Given the description of an element on the screen output the (x, y) to click on. 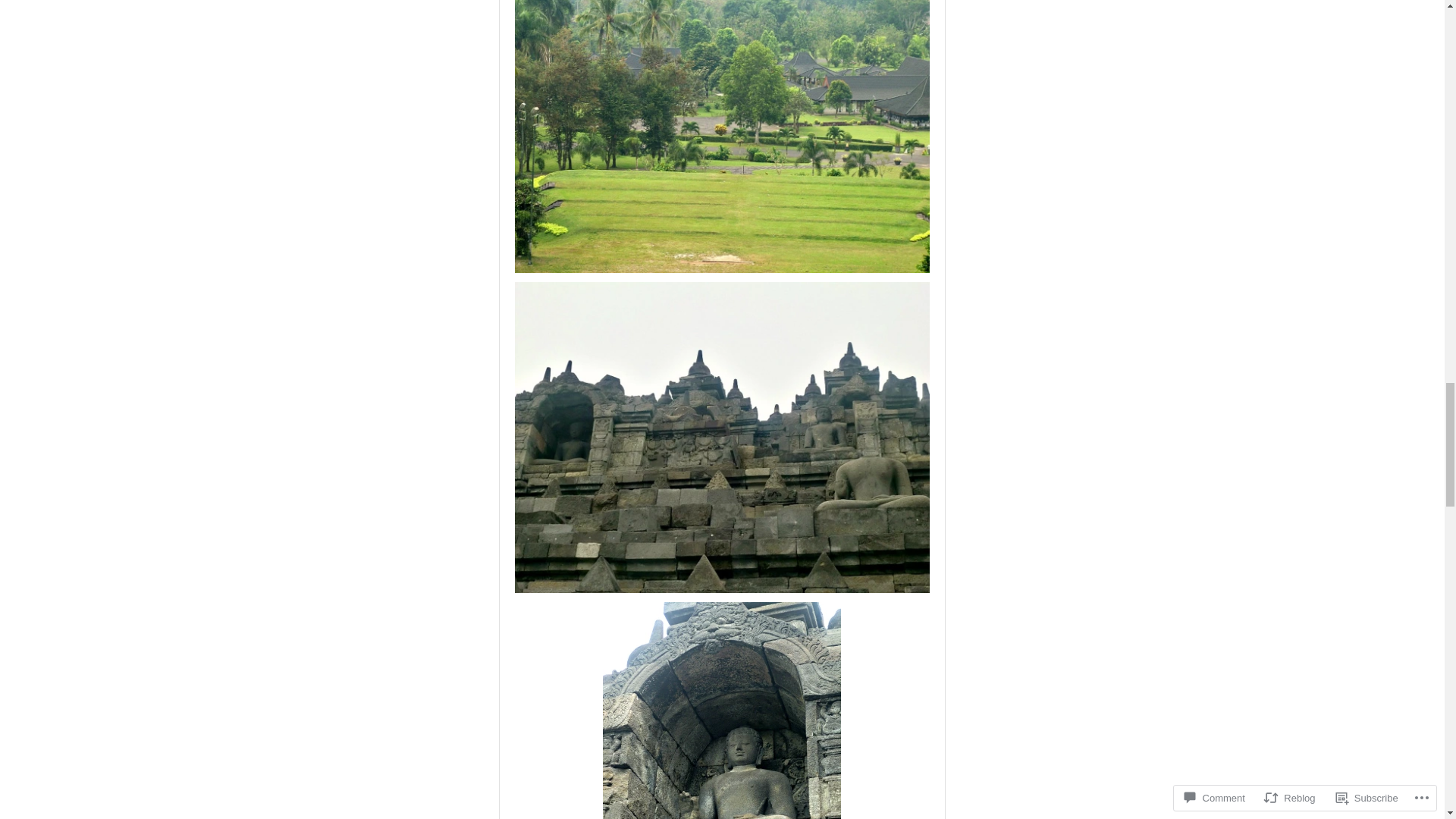
buddha (721, 710)
stupa (720, 436)
temple grounds (720, 135)
